Given the description of an element on the screen output the (x, y) to click on. 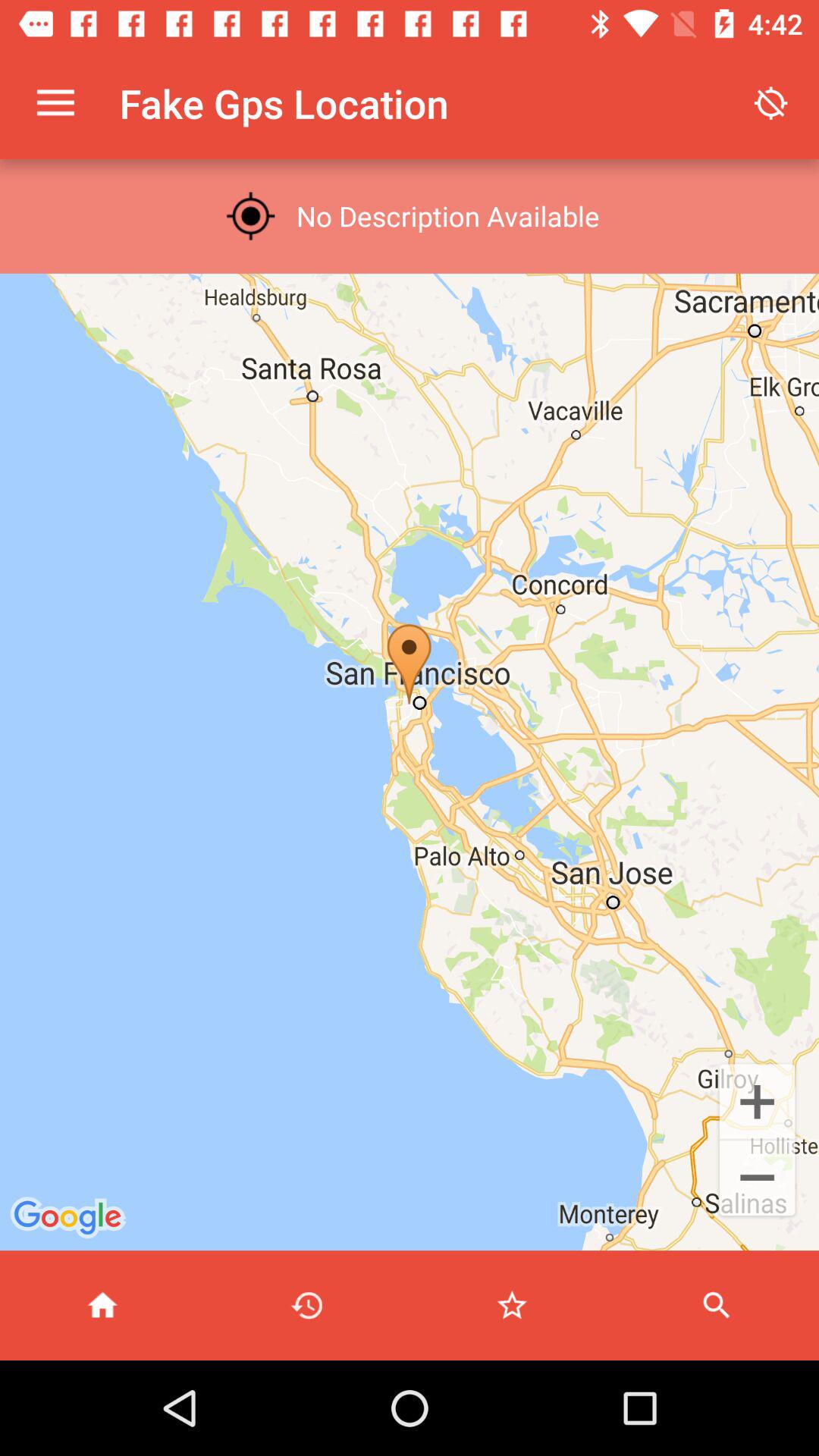
open home (102, 1305)
